Given the description of an element on the screen output the (x, y) to click on. 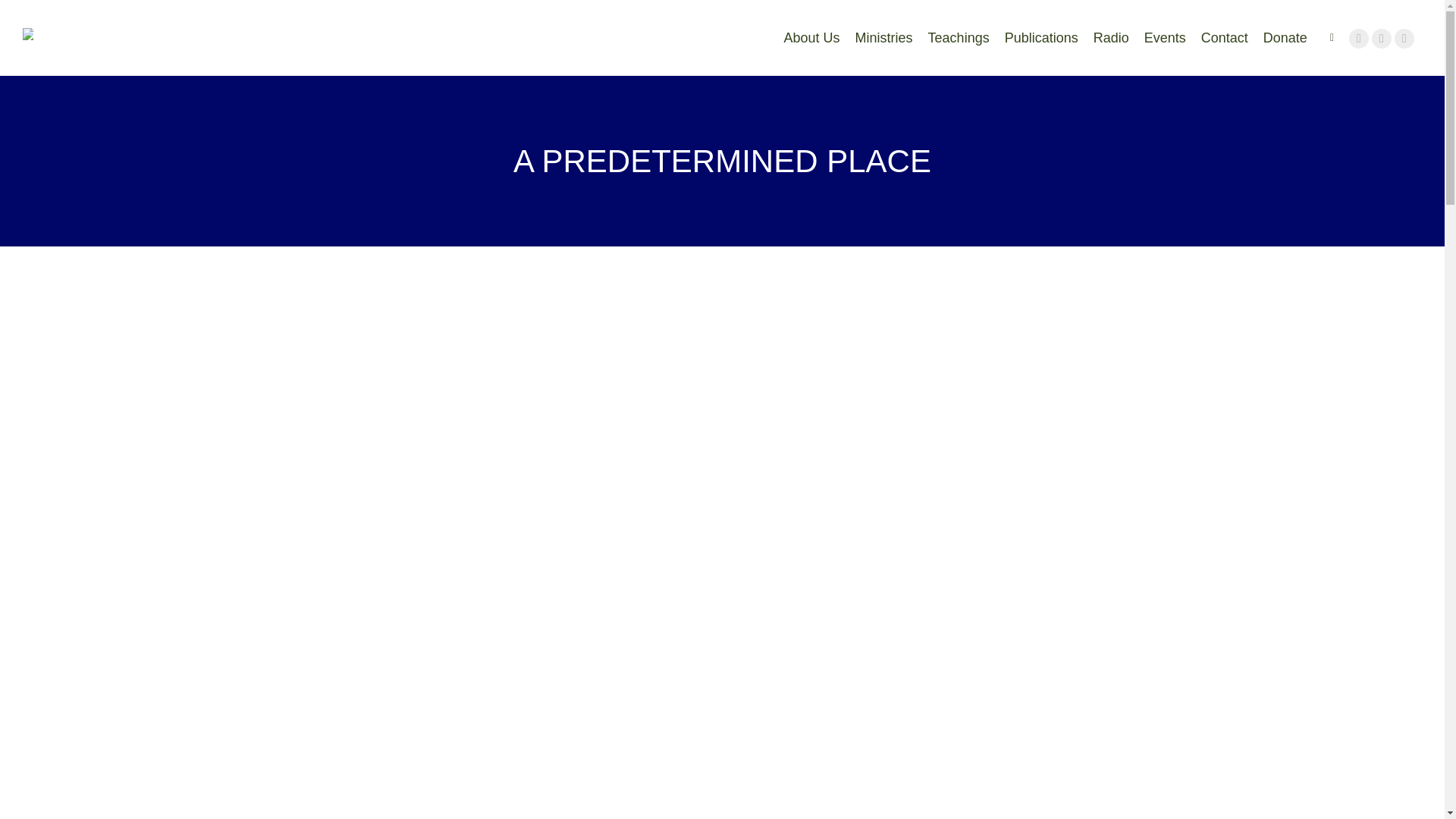
Teachings (959, 38)
Facebook page opens in new window (1358, 38)
YouTube page opens in new window (1403, 38)
Instagram page opens in new window (1381, 38)
About Us (812, 38)
Publications (1041, 38)
Ministries (884, 38)
